Given the description of an element on the screen output the (x, y) to click on. 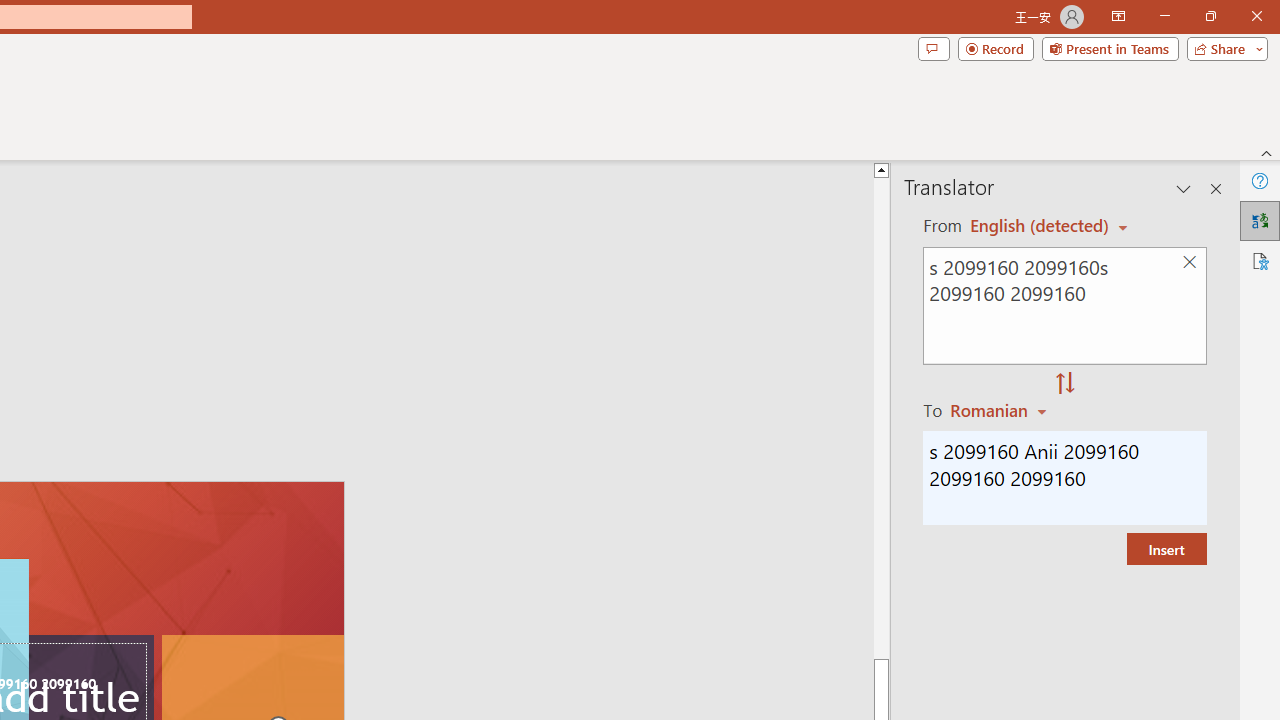
Czech (detected) (1039, 225)
Clear text (1189, 262)
